Given the description of an element on the screen output the (x, y) to click on. 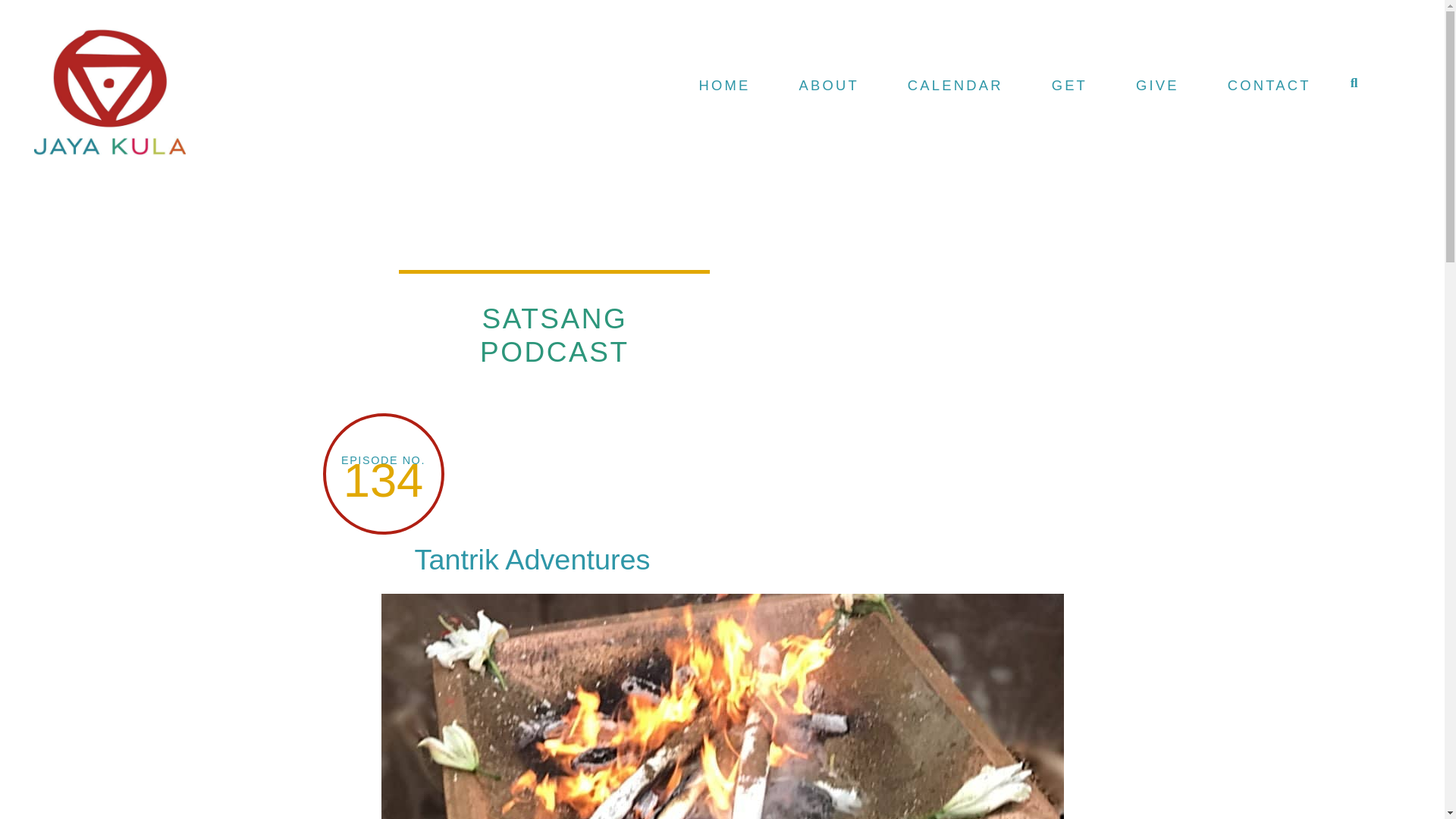
CALENDAR (955, 83)
HOME (724, 83)
ABOUT (828, 83)
CONTACT (1269, 83)
